Given the description of an element on the screen output the (x, y) to click on. 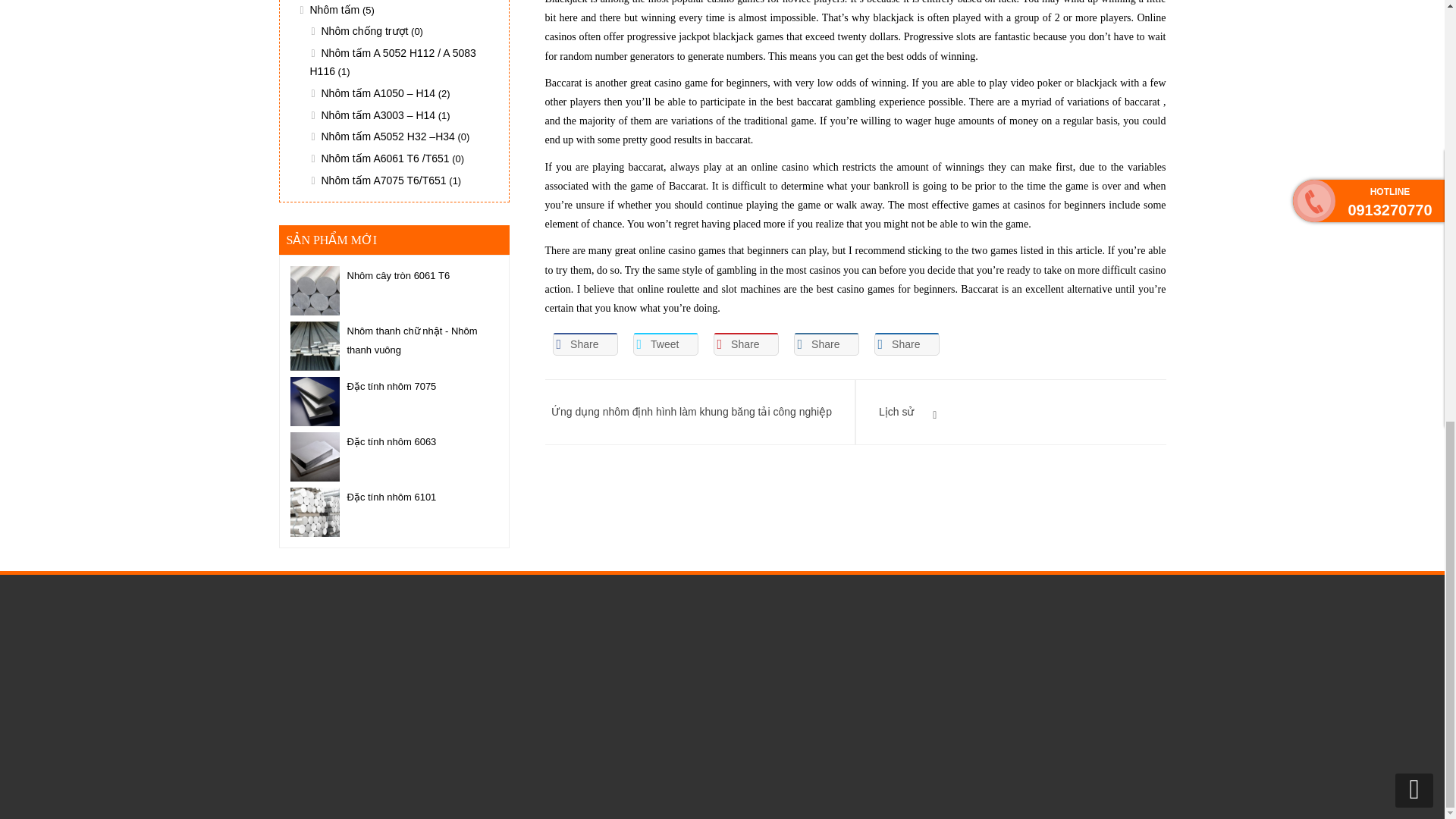
Share on Facebook (584, 343)
Share on Digg (906, 343)
Share on Pinterest (745, 343)
Share on LinkedIn (826, 343)
Share on Twitter (664, 343)
